Given the description of an element on the screen output the (x, y) to click on. 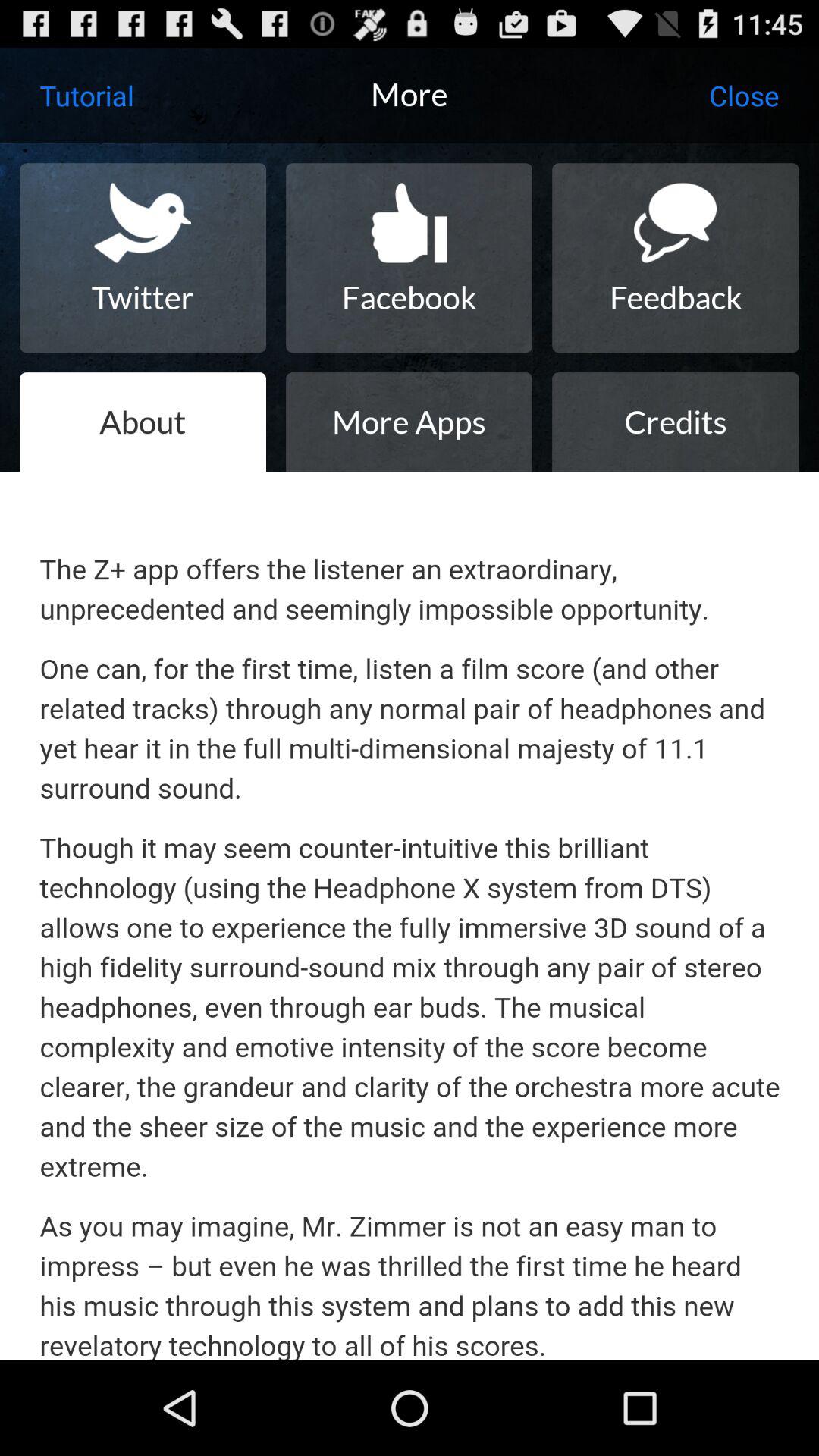
turn on the item above feedback icon (744, 95)
